Given the description of an element on the screen output the (x, y) to click on. 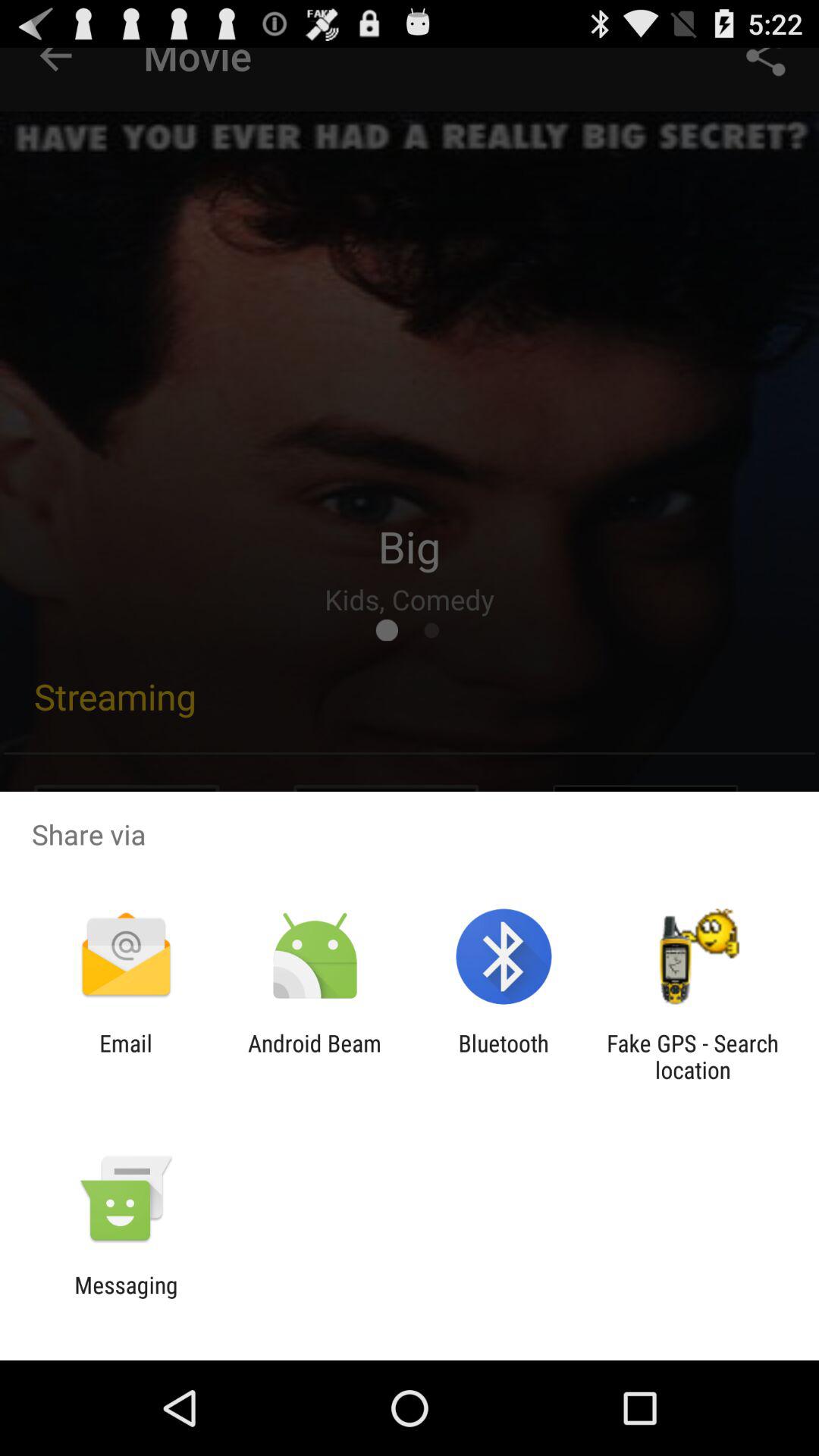
tap the app to the right of the email icon (314, 1056)
